Given the description of an element on the screen output the (x, y) to click on. 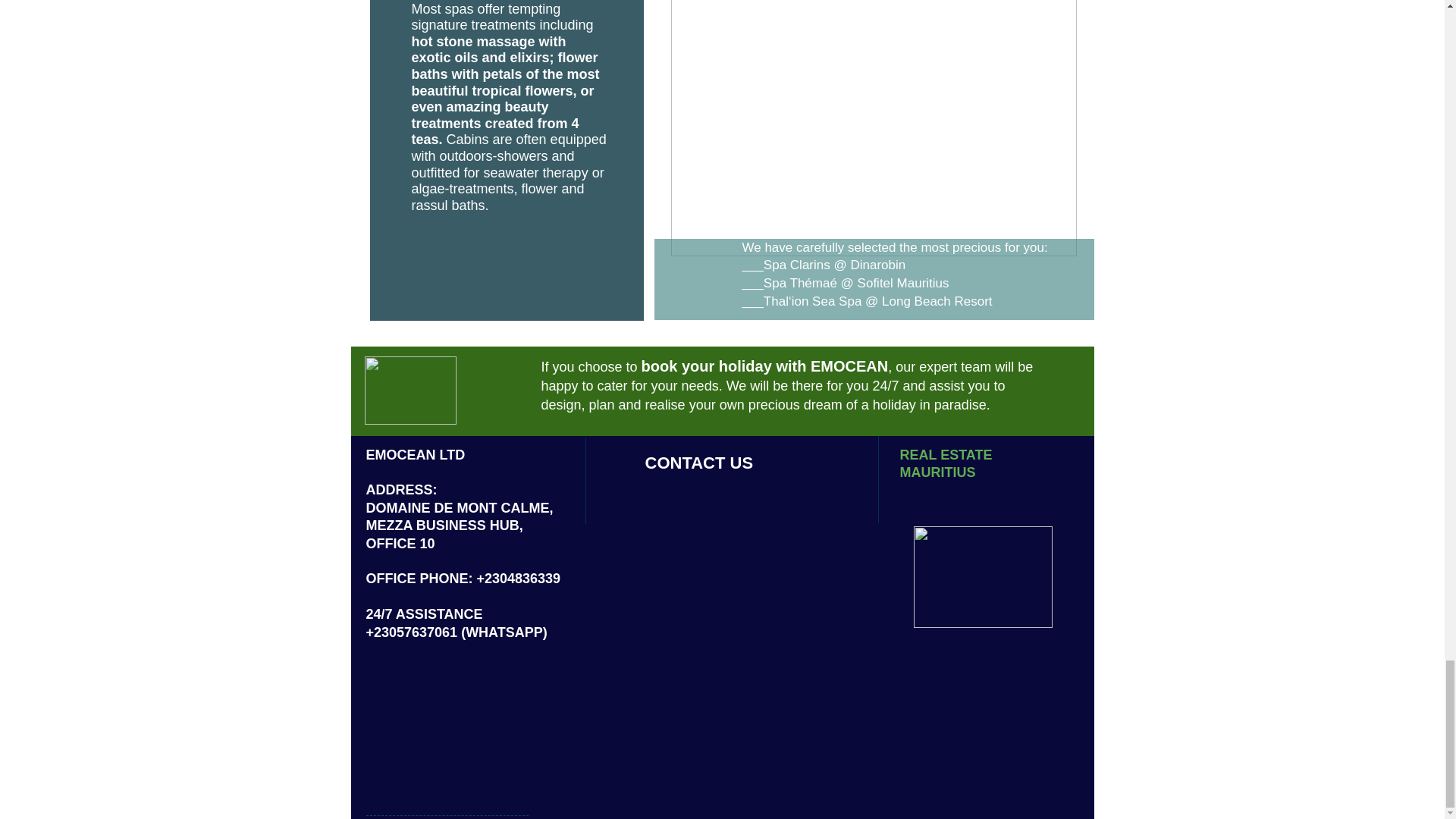
Indian-spa02.jpg (872, 128)
EMOCEAN LTD (414, 454)
REAL ESTATE MAURITIUS (945, 463)
